Given the description of an element on the screen output the (x, y) to click on. 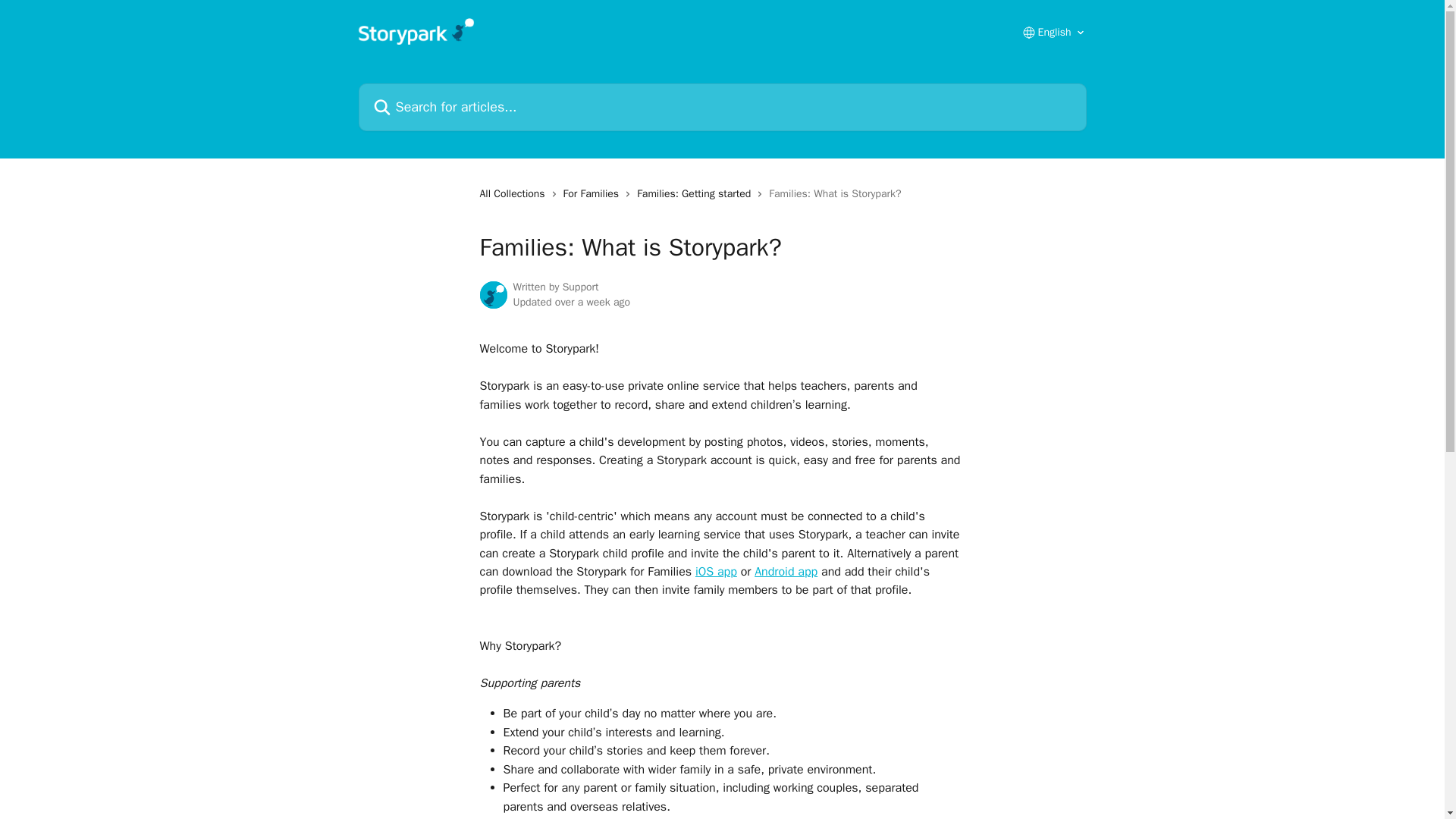
For Families (594, 193)
Android app (785, 571)
All Collections (514, 193)
Families: Getting started (697, 193)
iOS app (715, 571)
